Given the description of an element on the screen output the (x, y) to click on. 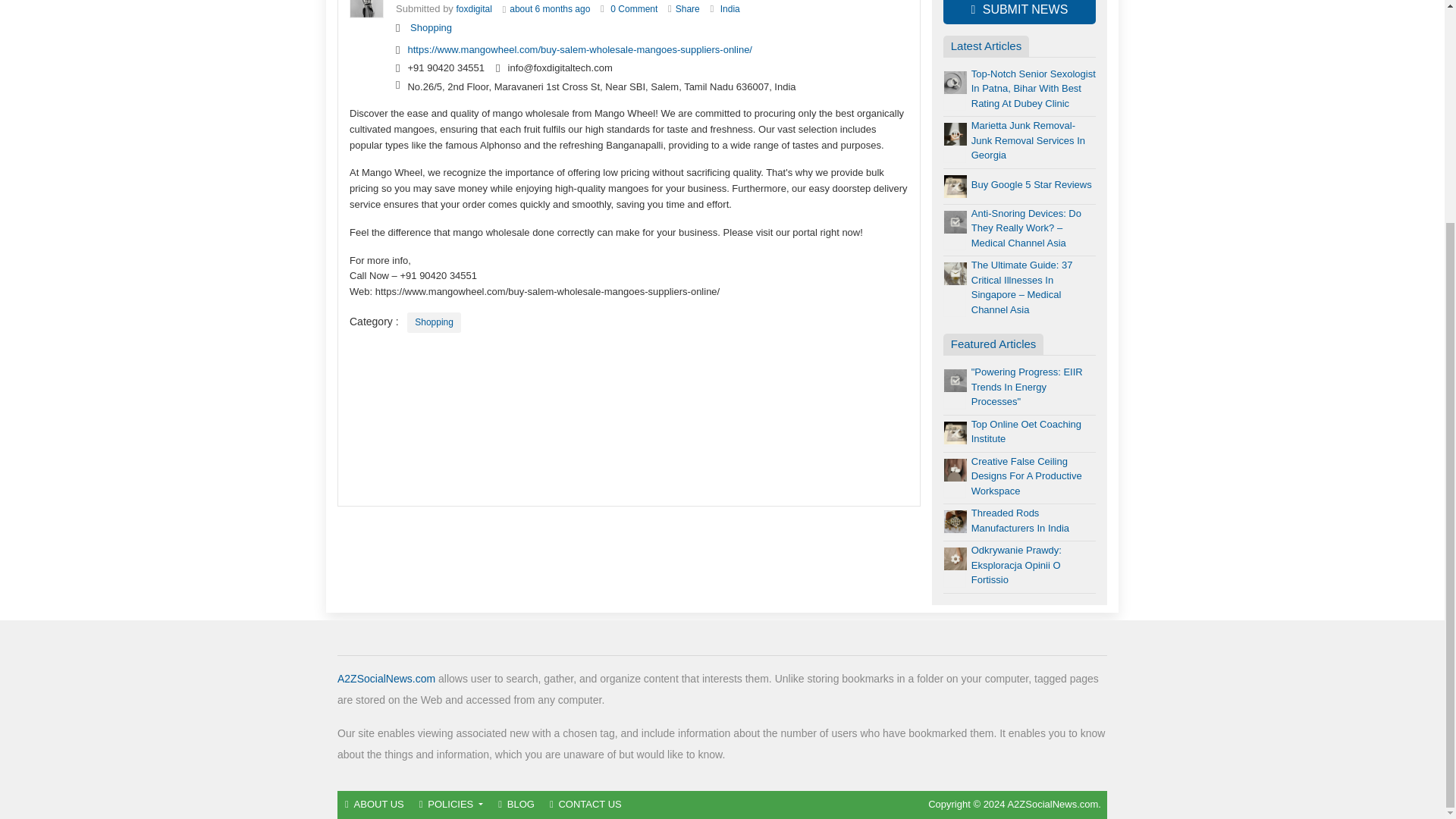
Share (687, 9)
about 6 months ago (549, 9)
India (729, 9)
SUBMIT NEWS (1019, 12)
India (729, 9)
Mango Wholesale Online In Salem (634, 9)
Share (687, 9)
about 6 months ago (549, 9)
0 Comment (634, 9)
Shopping (434, 322)
